Given the description of an element on the screen output the (x, y) to click on. 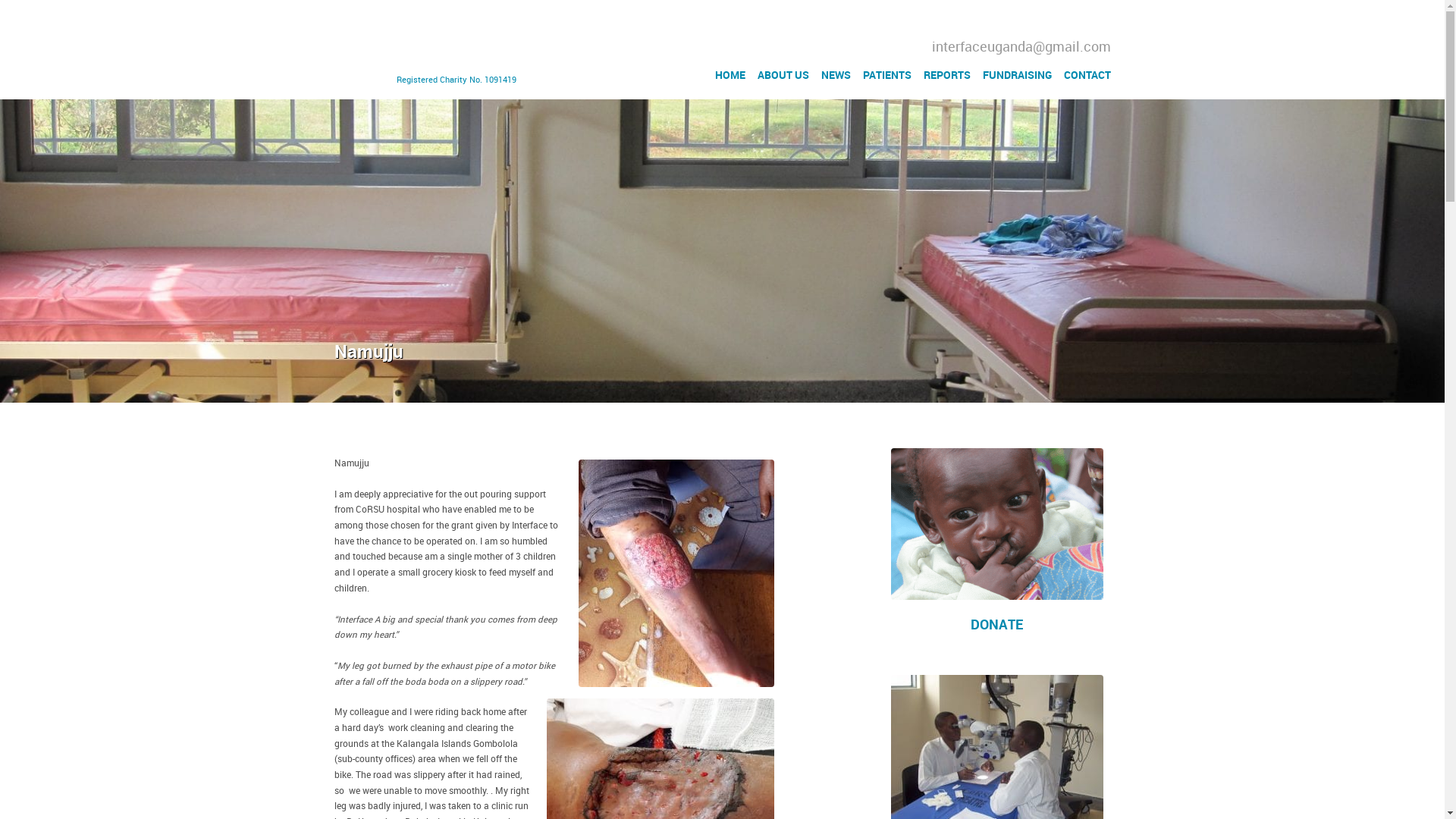
HOME (729, 74)
ABOUT US (782, 74)
NEWS (835, 74)
Registered Charity No. 1091419 (427, 49)
DONATE (997, 624)
CONTACT (1085, 74)
PATIENTS (887, 74)
FUNDRAISING (1016, 74)
REPORTS (947, 74)
